Given the description of an element on the screen output the (x, y) to click on. 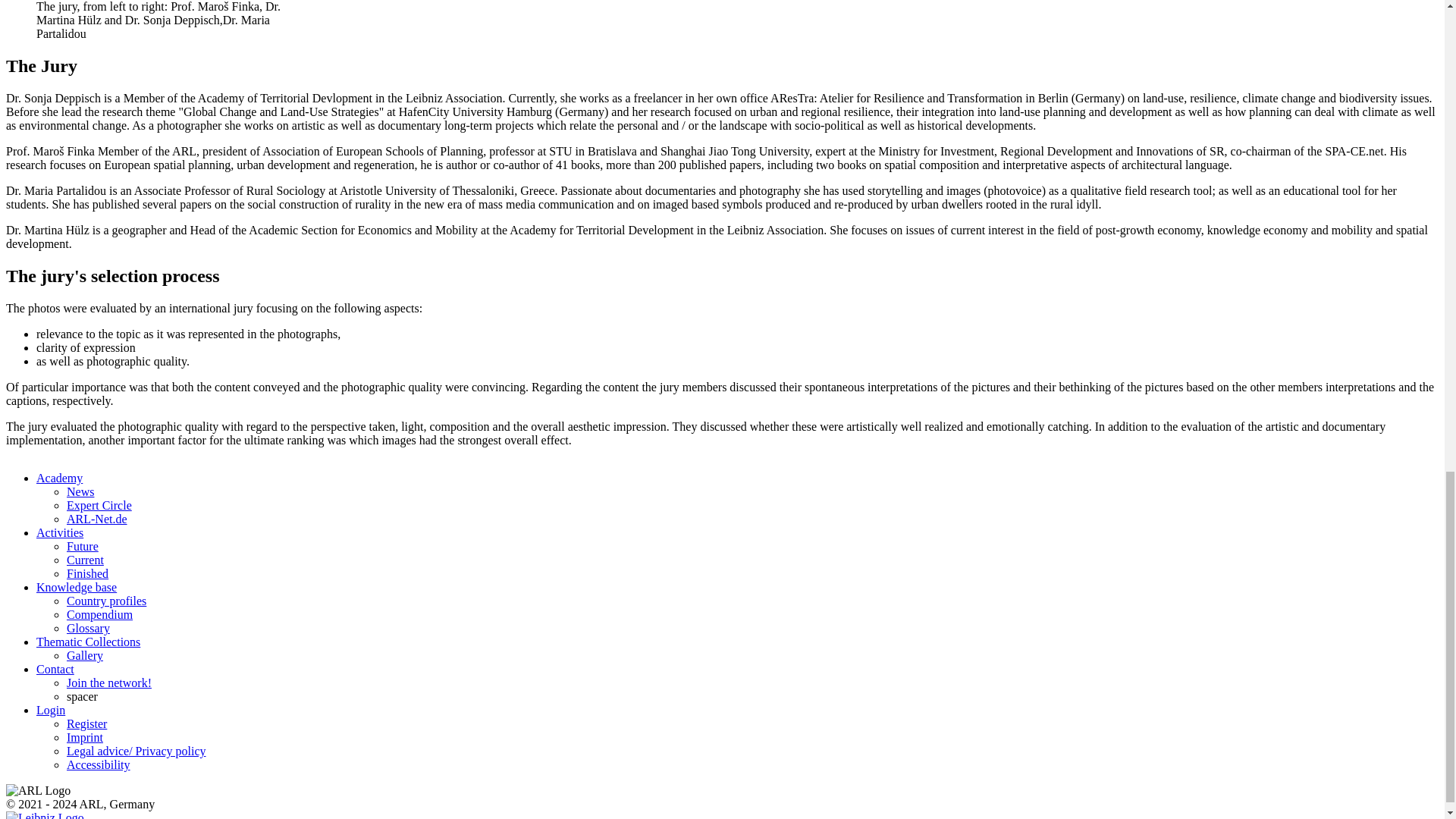
Login (50, 709)
ARL-Net.de (97, 518)
Gallery (84, 655)
Country profiles (106, 600)
Activities (59, 532)
Accessibility (98, 764)
Thematic Collections (87, 641)
Current (84, 559)
Academy (59, 477)
Contact (55, 668)
